Given the description of an element on the screen output the (x, y) to click on. 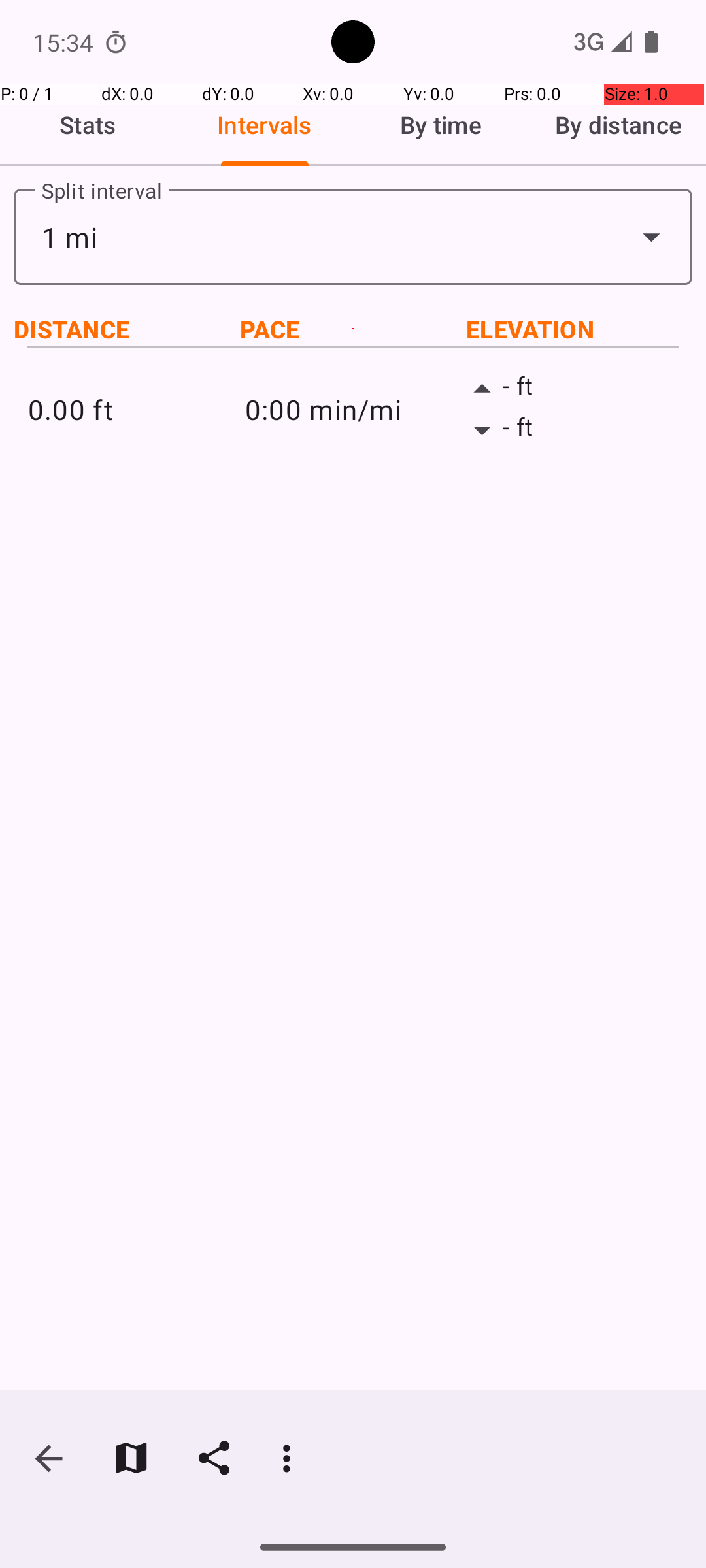
PACE Element type: android.widget.TextView (352, 328)
0:00 min/mi Element type: android.widget.TextView (352, 408)
